Given the description of an element on the screen output the (x, y) to click on. 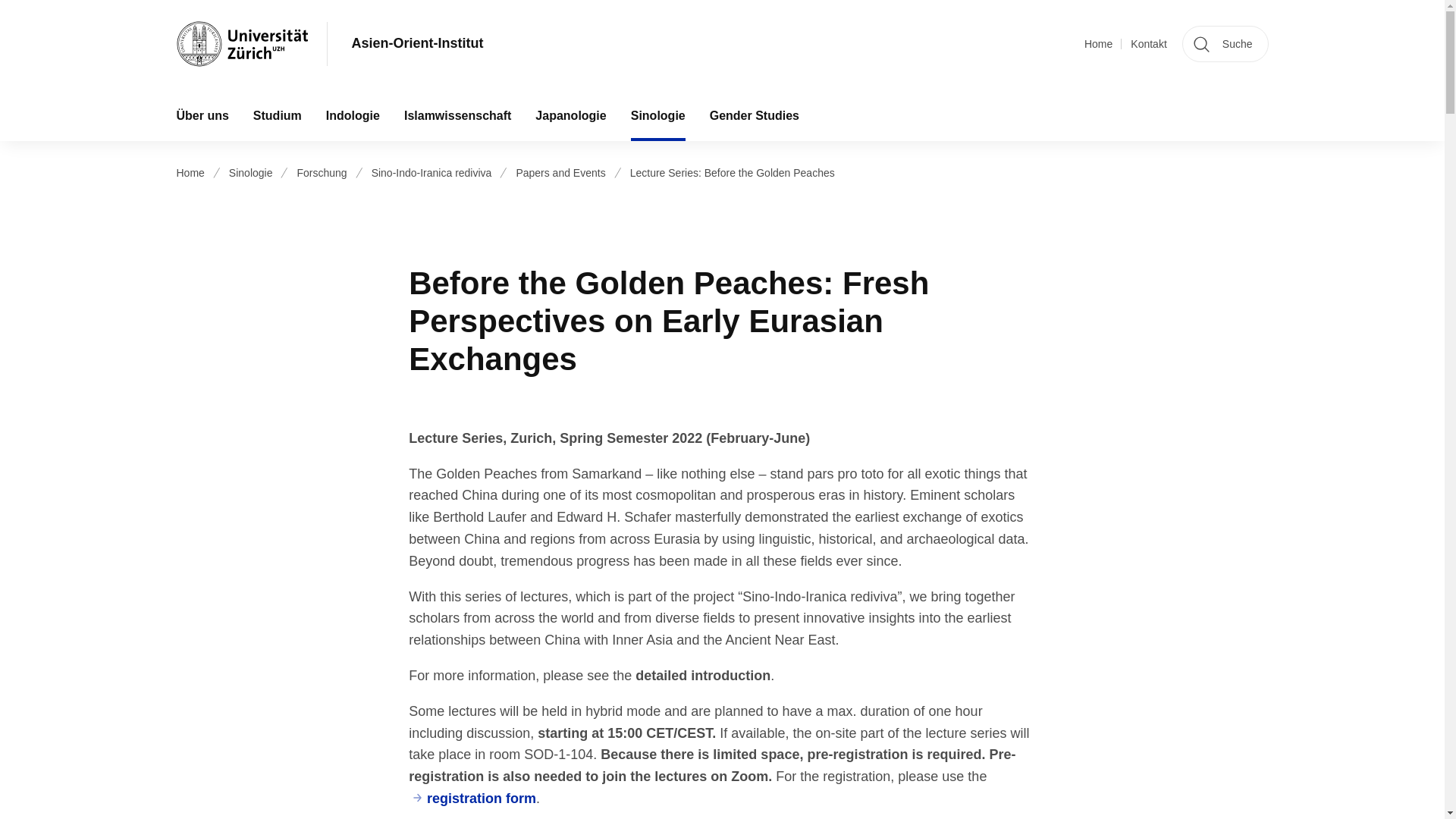
Asien-Orient-Institut (417, 43)
Suche (1225, 43)
Kontakt (1148, 44)
Home (1098, 44)
